Given the description of an element on the screen output the (x, y) to click on. 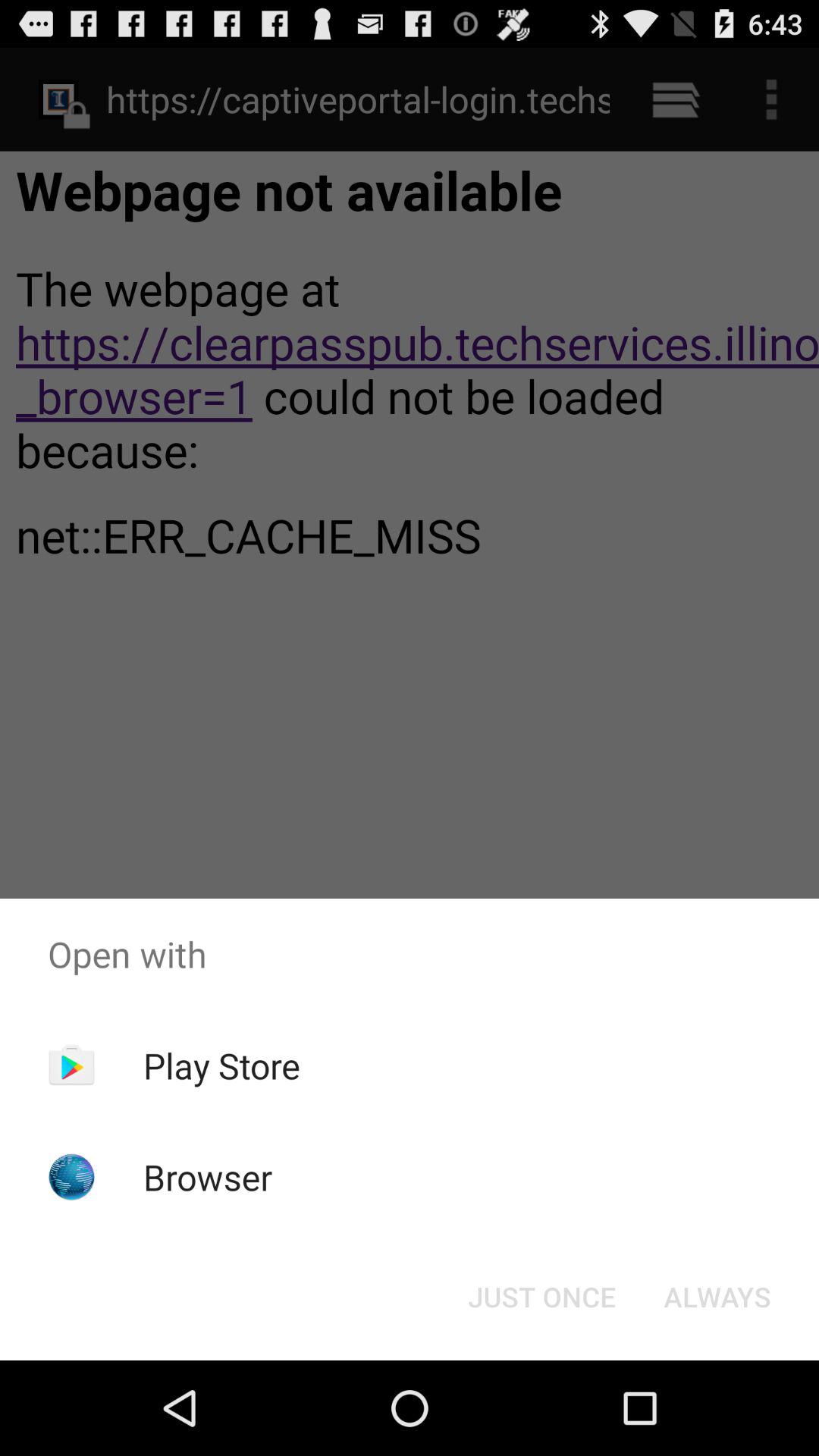
click the app below play store app (207, 1176)
